Given the description of an element on the screen output the (x, y) to click on. 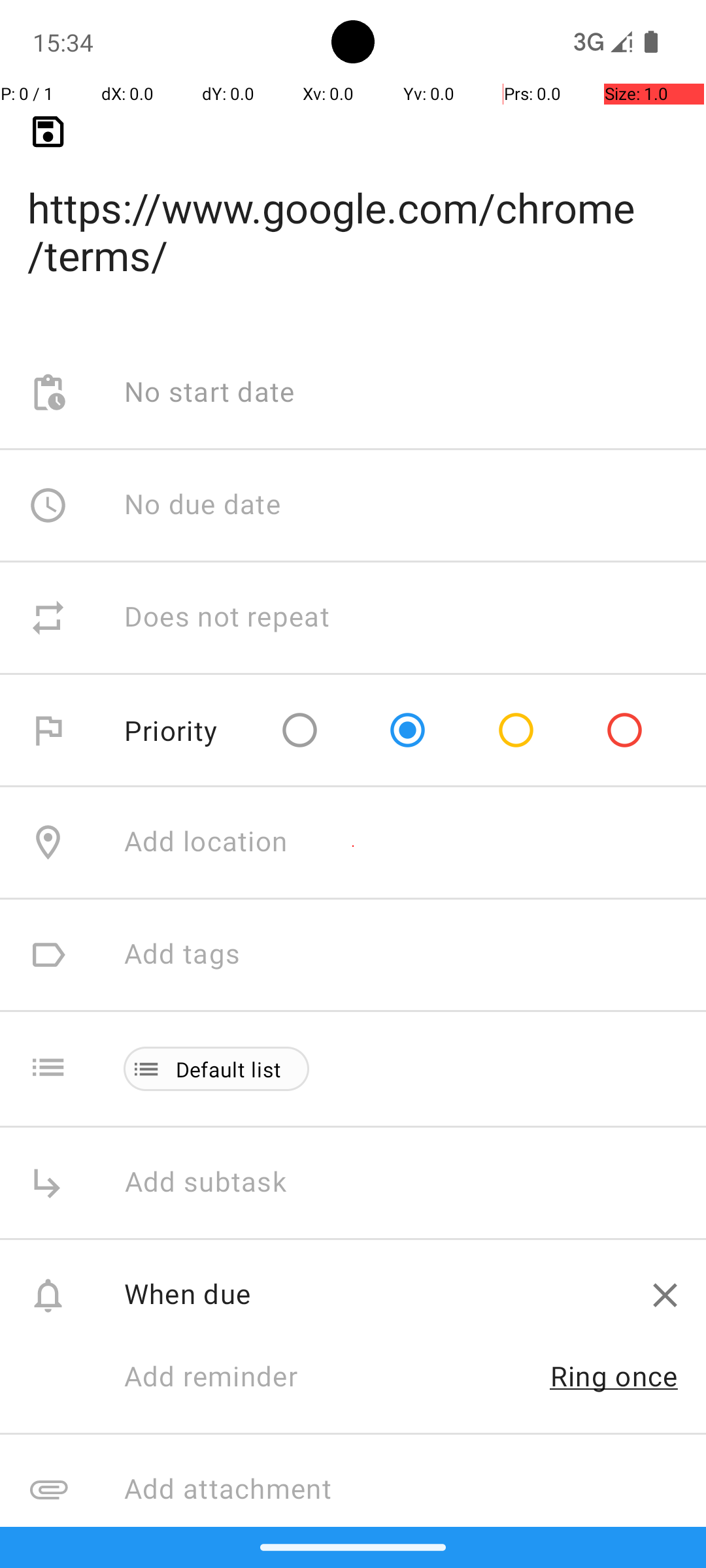
https://www.google.com/chrome/terms/ Element type: android.widget.EditText (353, 210)
Save Element type: android.widget.ImageButton (48, 131)
No due date Element type: android.widget.TextView (202, 504)
Priority Element type: android.widget.TextView (170, 729)
Default list Element type: android.widget.TextView (228, 1069)
No start date Element type: android.widget.TextView (209, 392)
Does not repeat Element type: android.widget.TextView (226, 617)
Add location Element type: android.widget.TextView (205, 842)
Add tags Element type: android.widget.TextView (182, 954)
Add subtask Element type: android.widget.TextView (219, 1182)
Add reminder Element type: android.widget.TextView (224, 1377)
Ring once Element type: android.widget.TextView (613, 1375)
Add attachment Element type: android.widget.TextView (414, 1489)
When due Element type: android.widget.TextView (373, 1292)
Delete Element type: android.view.View (664, 1294)
